Given the description of an element on the screen output the (x, y) to click on. 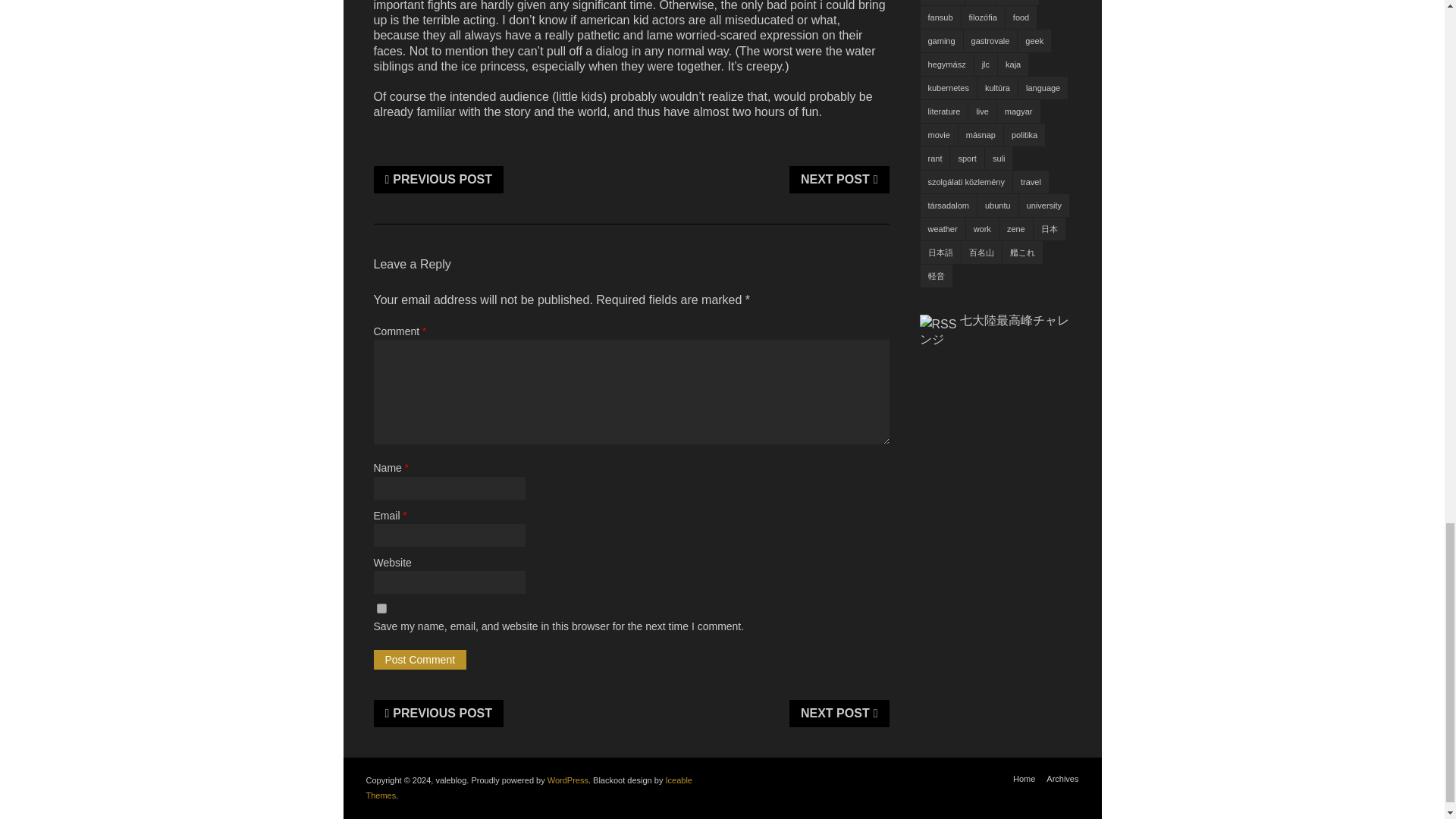
PREVIOUS POST (437, 179)
Free and Premium WordPress Themes (528, 787)
NEXT POST (839, 179)
Post Comment (418, 659)
PREVIOUS POST (437, 713)
NEXT POST (839, 713)
Semantic Personal Publishing Platform (567, 779)
yes (380, 608)
Post Comment (418, 659)
